Given the description of an element on the screen output the (x, y) to click on. 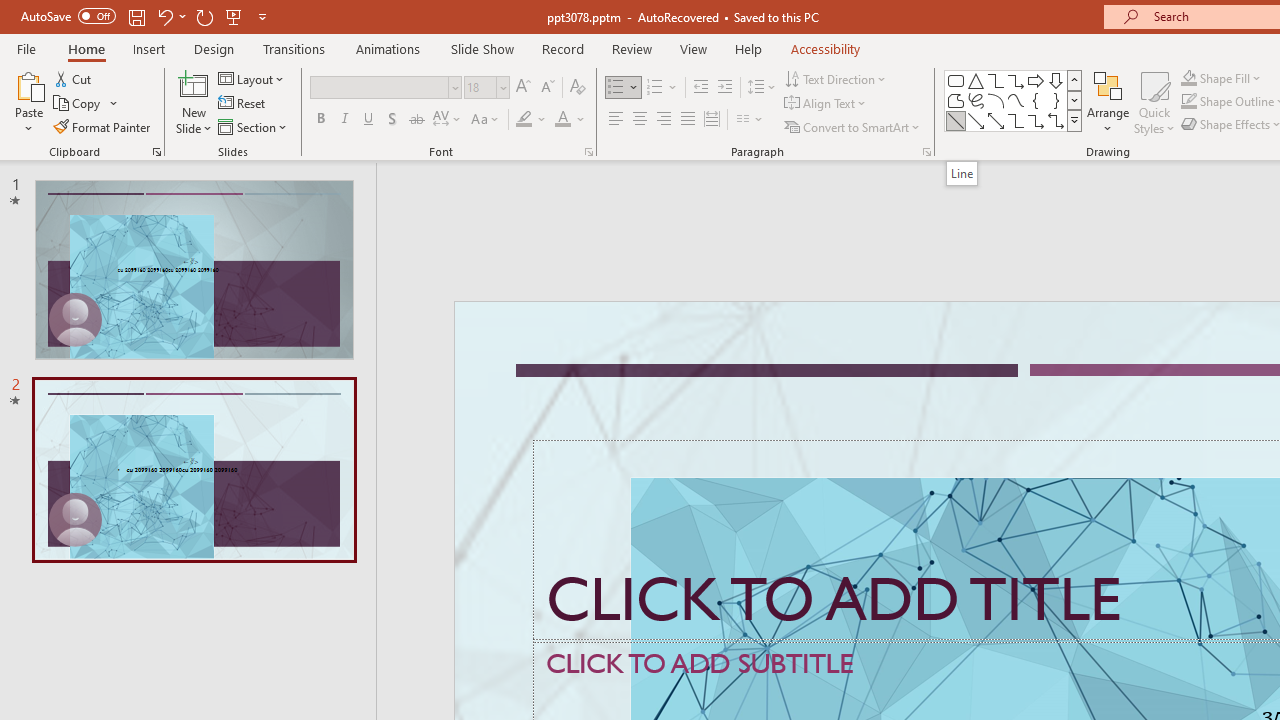
Arrow: Down (1055, 80)
Clear Formatting (577, 87)
Line Spacing (762, 87)
Right Brace (1055, 100)
Arrow: Right (1035, 80)
Quick Access Toolbar (145, 16)
New Slide (193, 84)
Rectangle: Rounded Corners (955, 80)
Italic (344, 119)
AutomationID: ShapesInsertGallery (1014, 100)
Row up (1074, 79)
Office Clipboard... (156, 151)
Align Text (826, 103)
Design (214, 48)
